Given the description of an element on the screen output the (x, y) to click on. 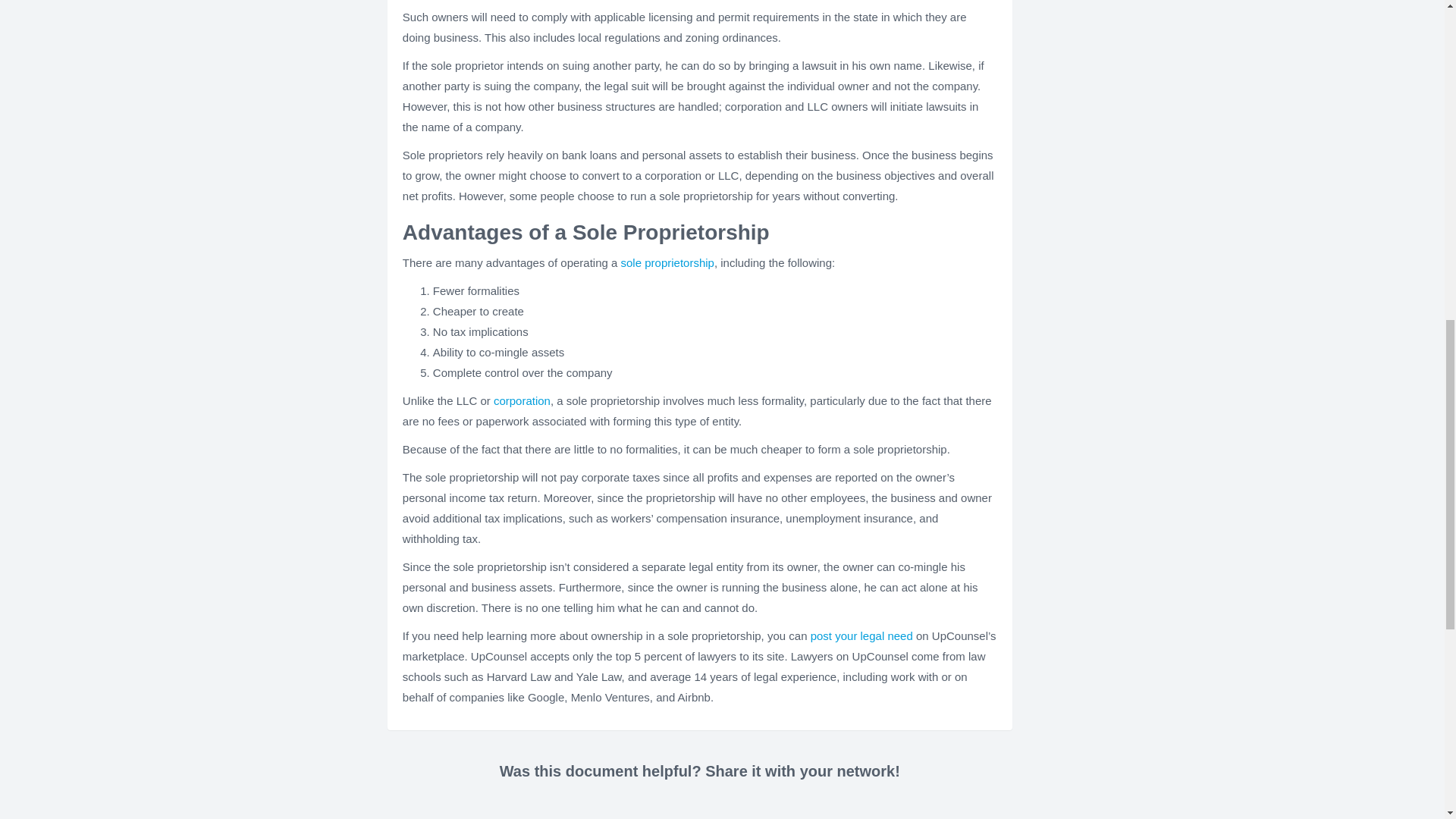
sole proprietorship (667, 262)
corporation (521, 400)
post your legal need (861, 635)
